Given the description of an element on the screen output the (x, y) to click on. 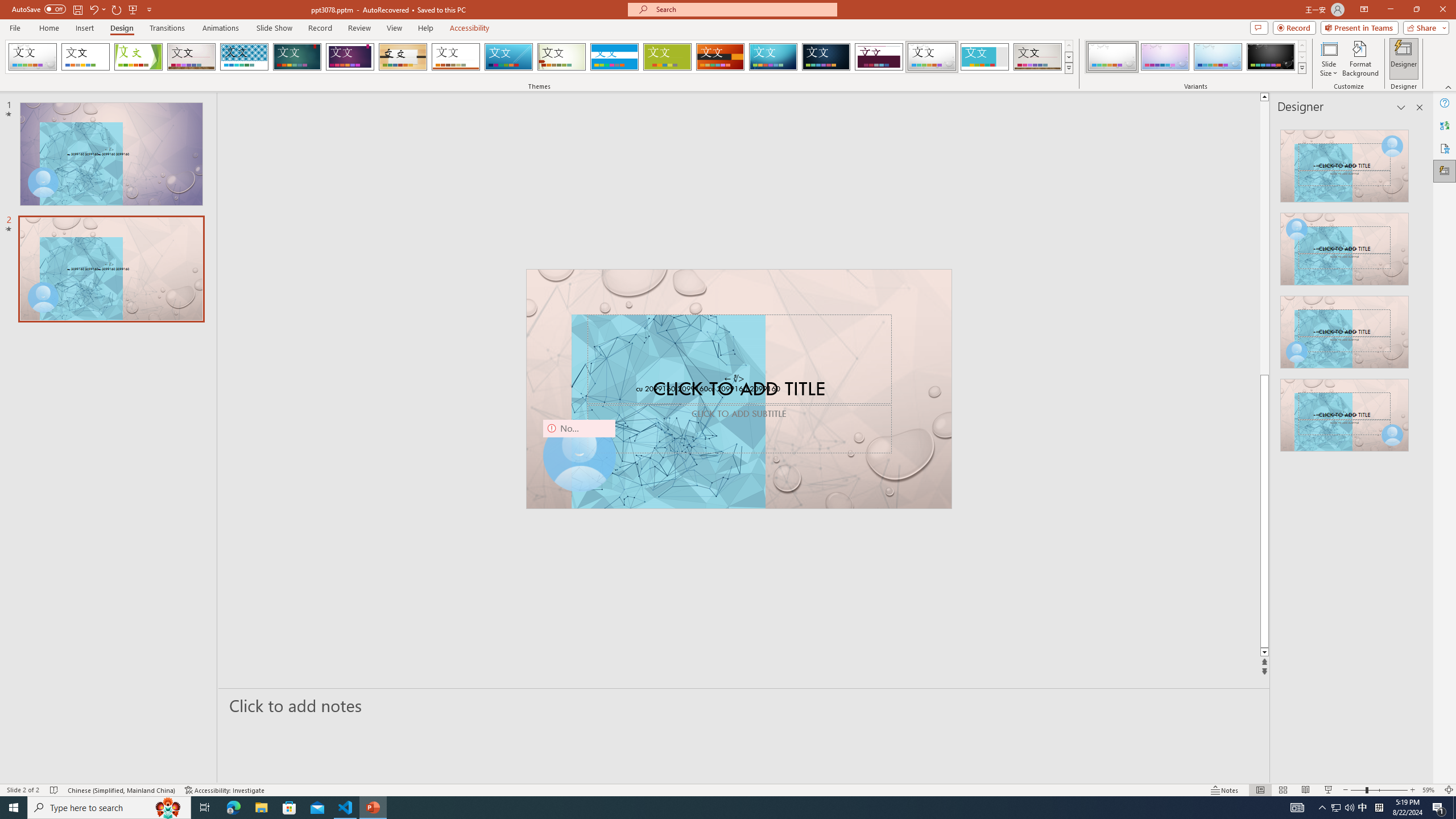
Retrospect (455, 56)
Variants (1301, 67)
Droplet Variant 3 (1217, 56)
Damask (826, 56)
Wisp (561, 56)
